Given the description of an element on the screen output the (x, y) to click on. 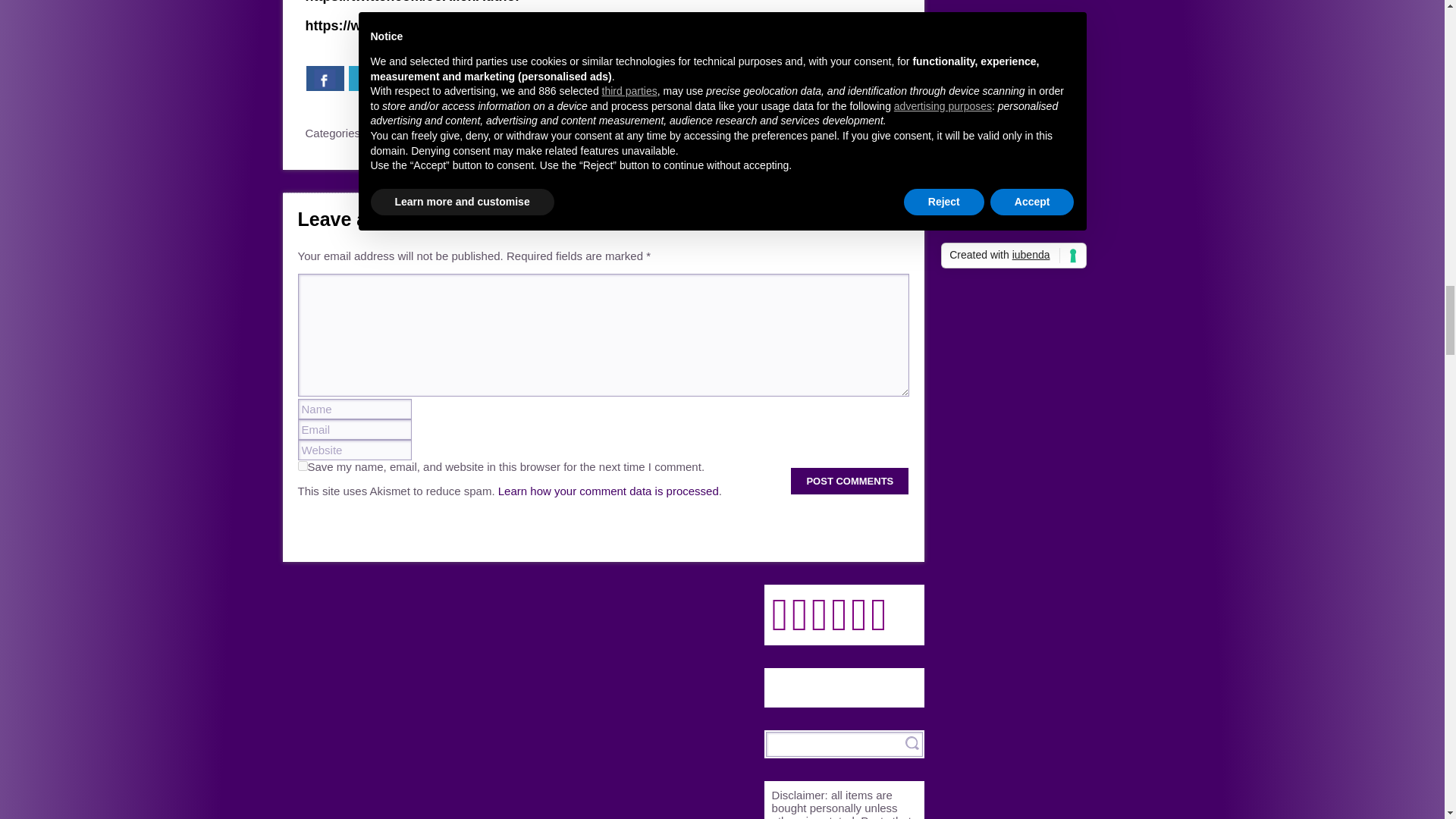
Post Comments (849, 480)
book reviews (399, 132)
yes (302, 465)
Learn how your comment data is processed (608, 490)
Post Comments (849, 480)
Search (912, 742)
Share On Pinterest (410, 78)
Share On Facebook (324, 78)
Share On Twitter (368, 78)
